Given the description of an element on the screen output the (x, y) to click on. 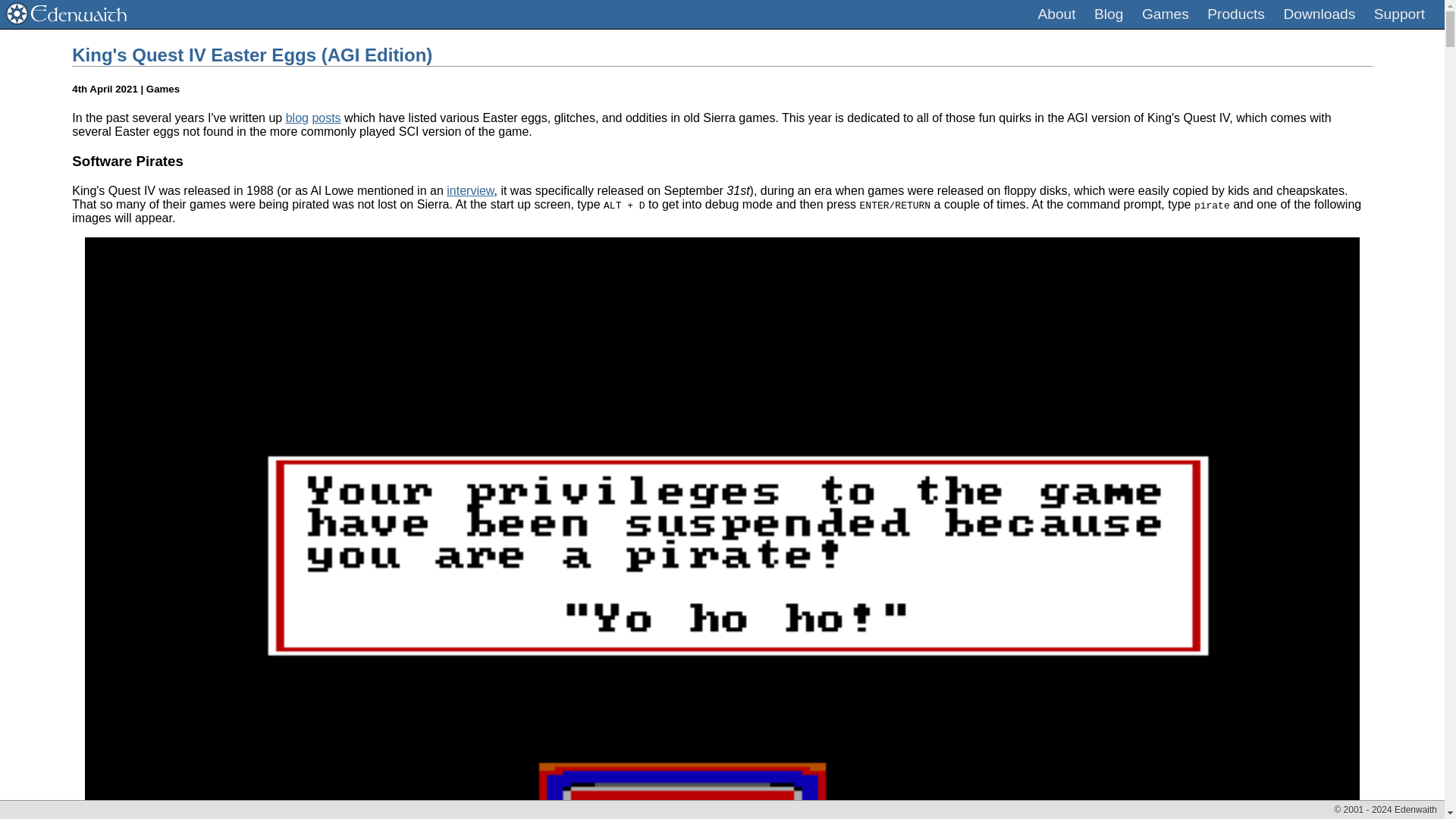
Home (66, 20)
Support (1399, 13)
Downloads (1318, 13)
Games (1165, 13)
interview (469, 190)
blog (296, 117)
Blog (1108, 13)
posts (325, 117)
Products (1235, 13)
About (1056, 13)
